Given the description of an element on the screen output the (x, y) to click on. 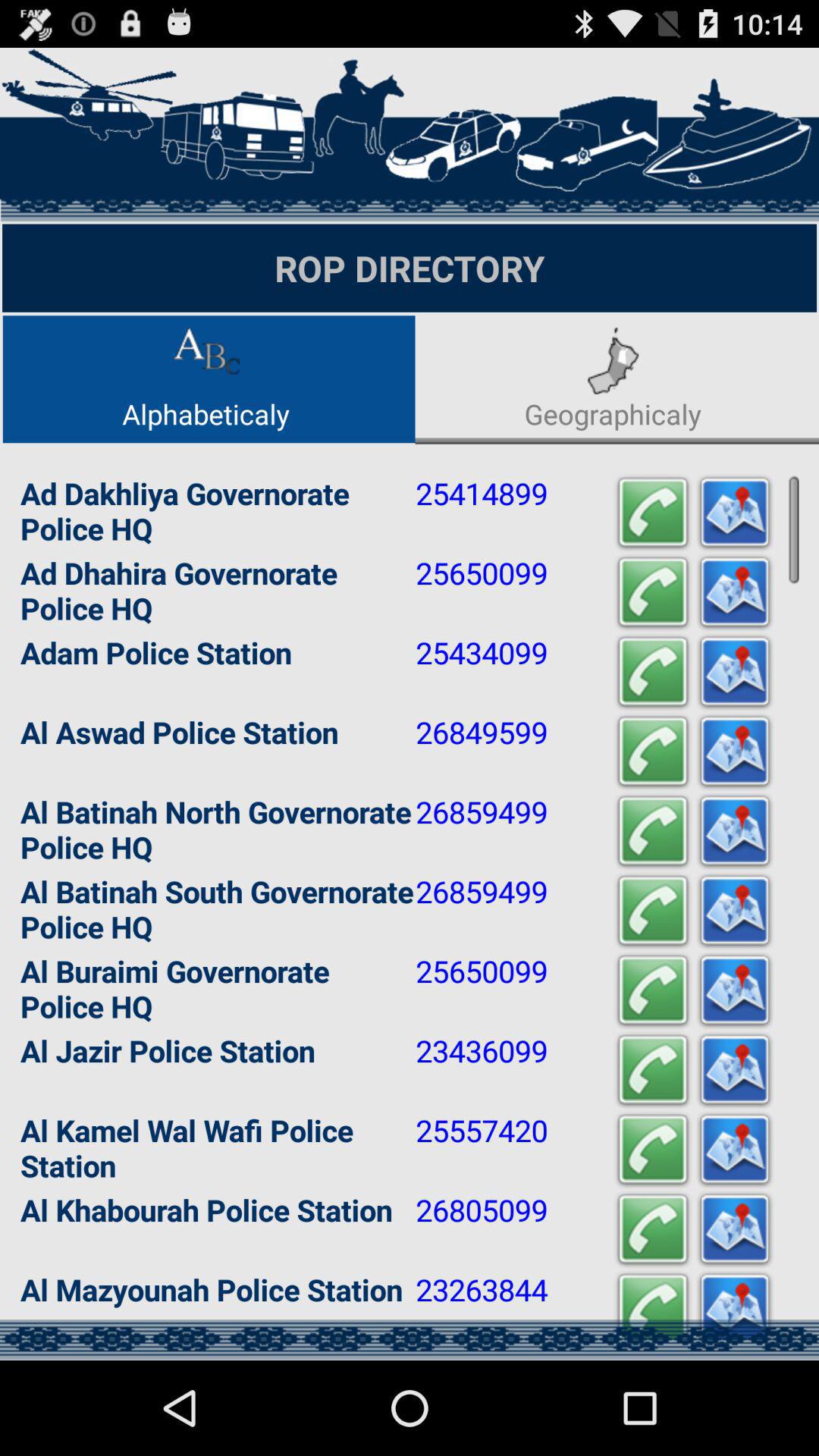
open map (734, 672)
